Given the description of an element on the screen output the (x, y) to click on. 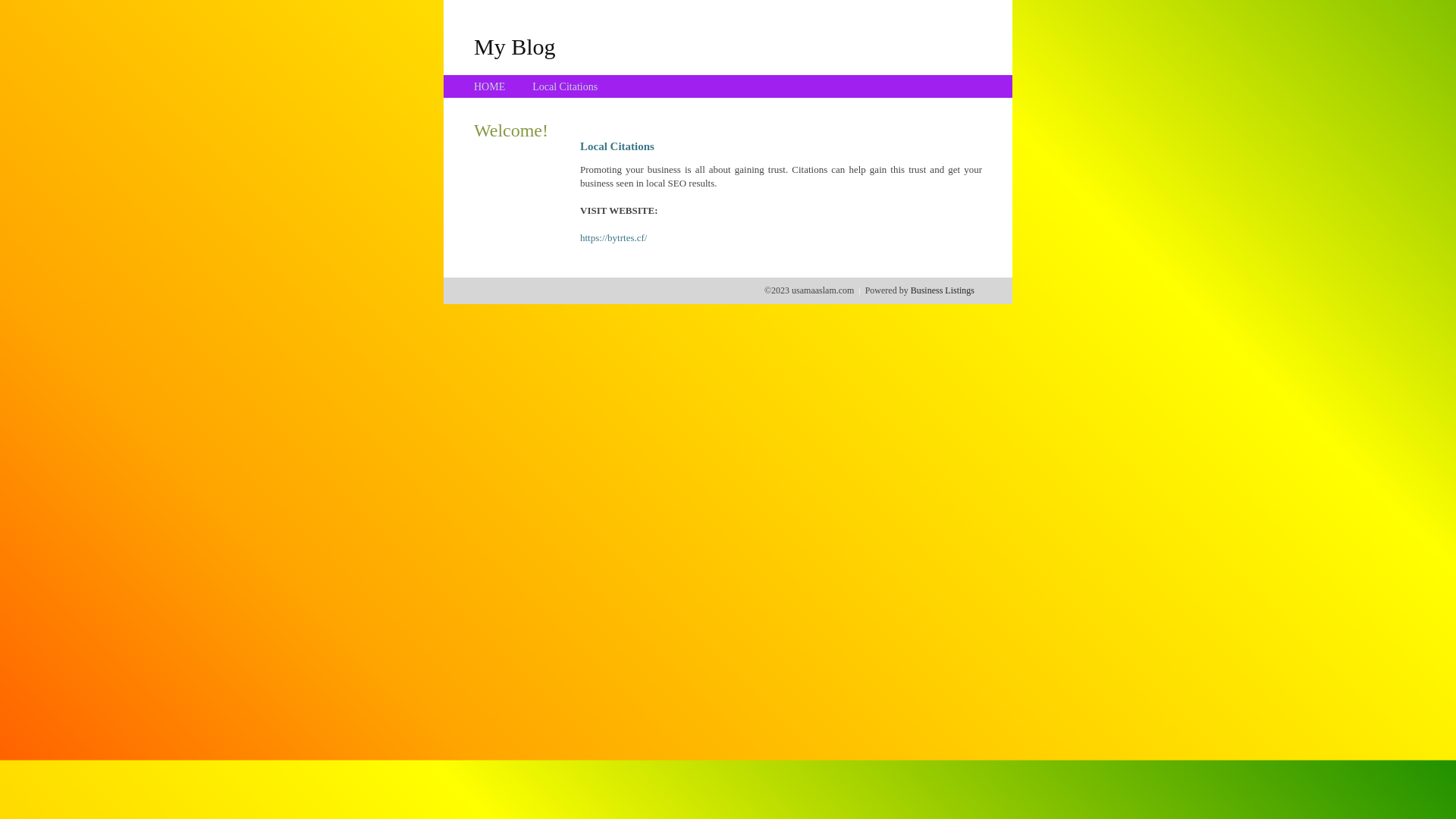
HOME Element type: text (489, 86)
Local Citations Element type: text (564, 86)
Business Listings Element type: text (942, 290)
https://bytrtes.cf/ Element type: text (613, 237)
My Blog Element type: text (514, 46)
